Given the description of an element on the screen output the (x, y) to click on. 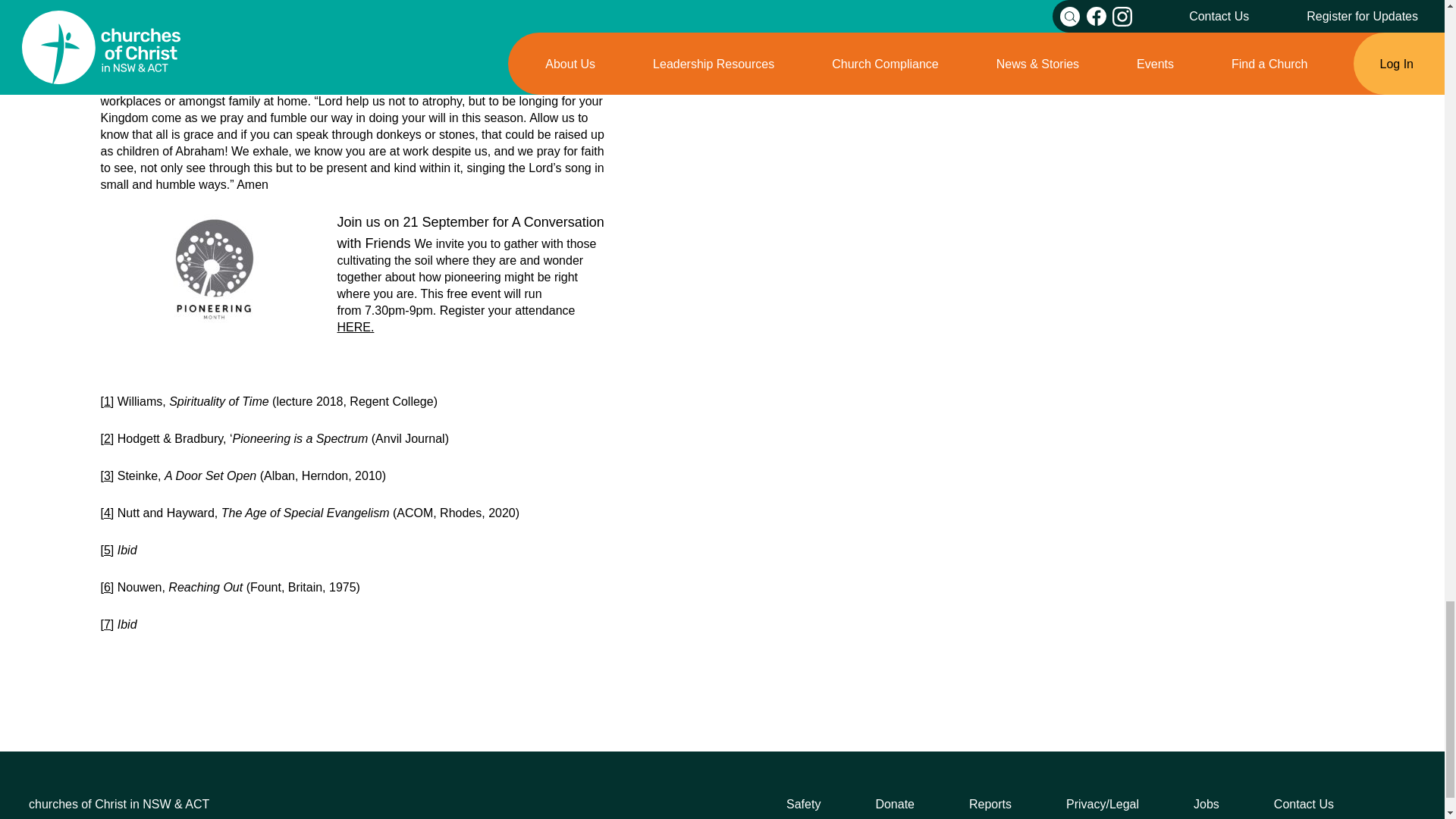
Reports (990, 803)
Safety (803, 803)
Contact Us (1303, 803)
HERE. (355, 327)
Donate (894, 803)
Jobs (1206, 803)
